Given the description of an element on the screen output the (x, y) to click on. 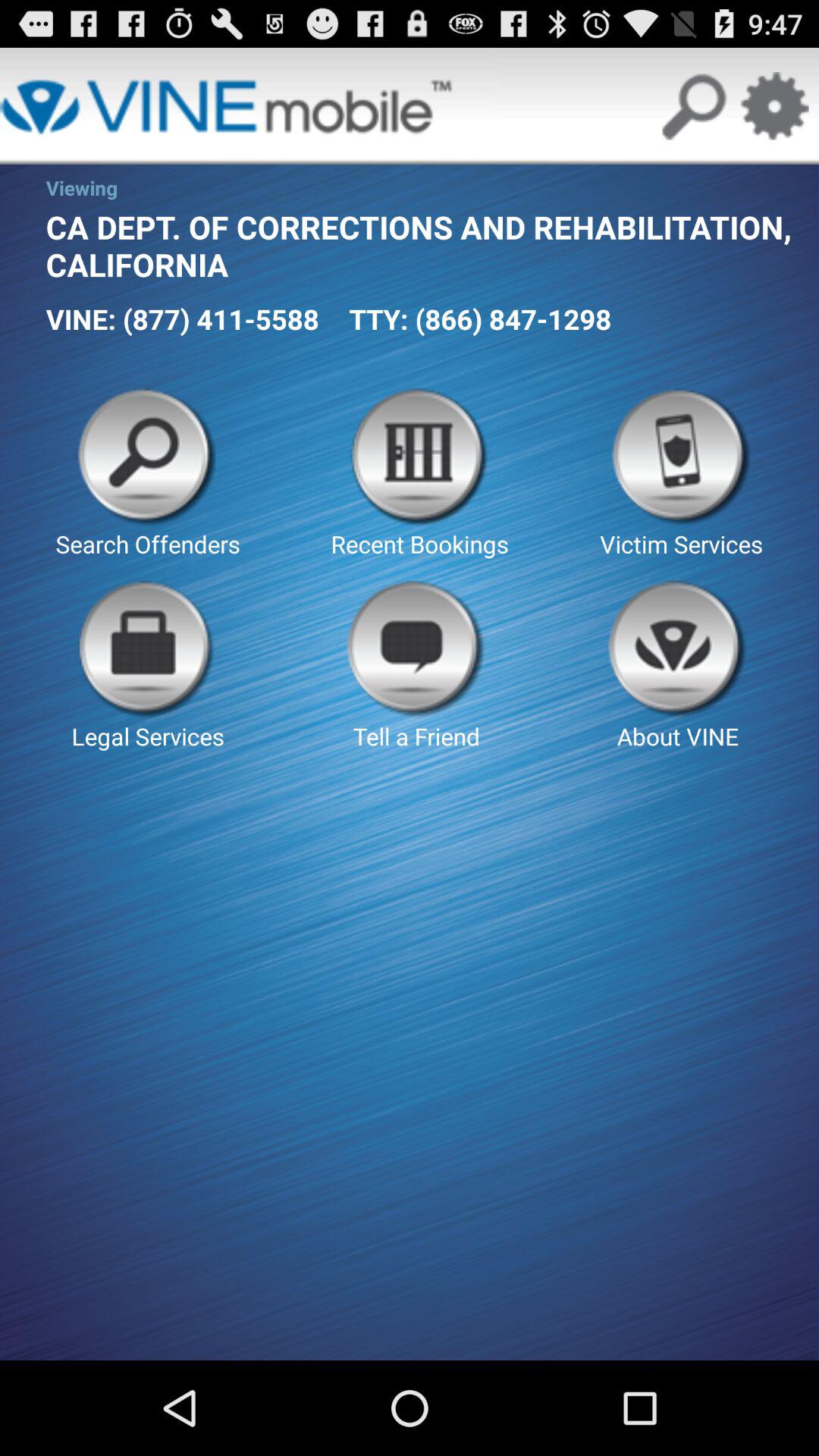
flip until about vine button (677, 666)
